Given the description of an element on the screen output the (x, y) to click on. 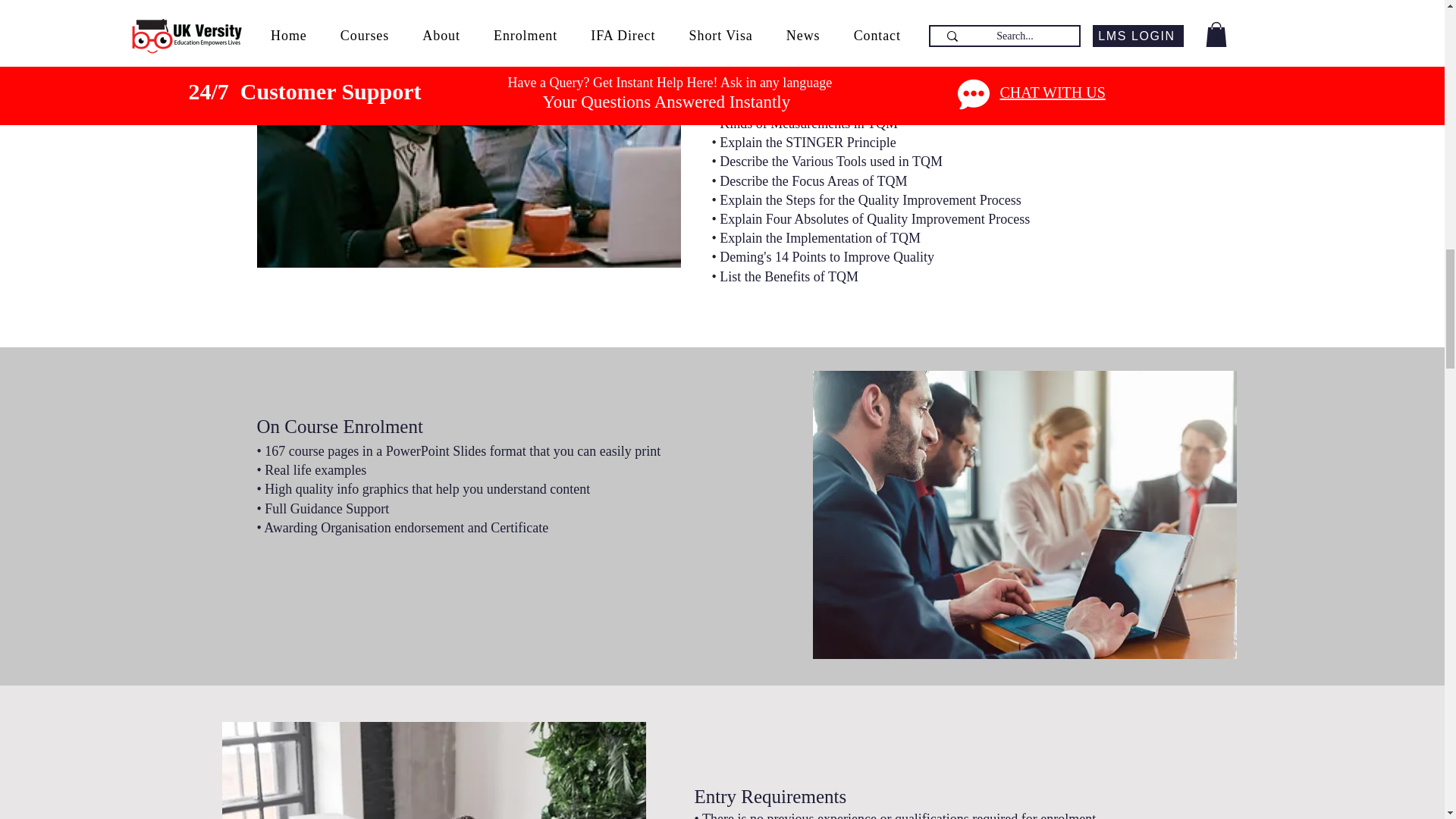
Business Meeting.jpg (433, 770)
Business meeting.jpeg (1024, 515)
Business meeting in a cafe.jpg (467, 133)
